Given the description of an element on the screen output the (x, y) to click on. 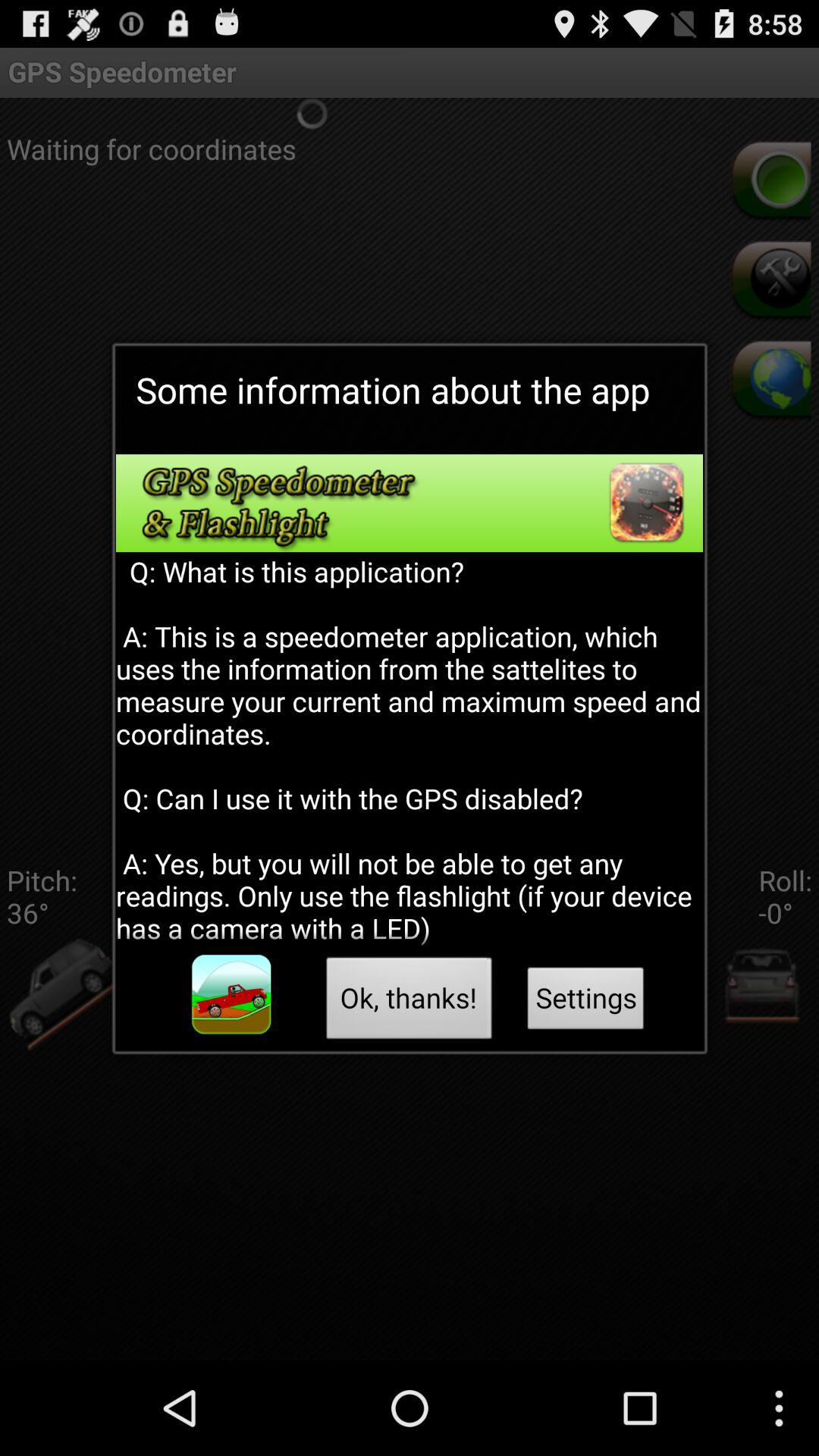
game app icon for information (231, 994)
